Given the description of an element on the screen output the (x, y) to click on. 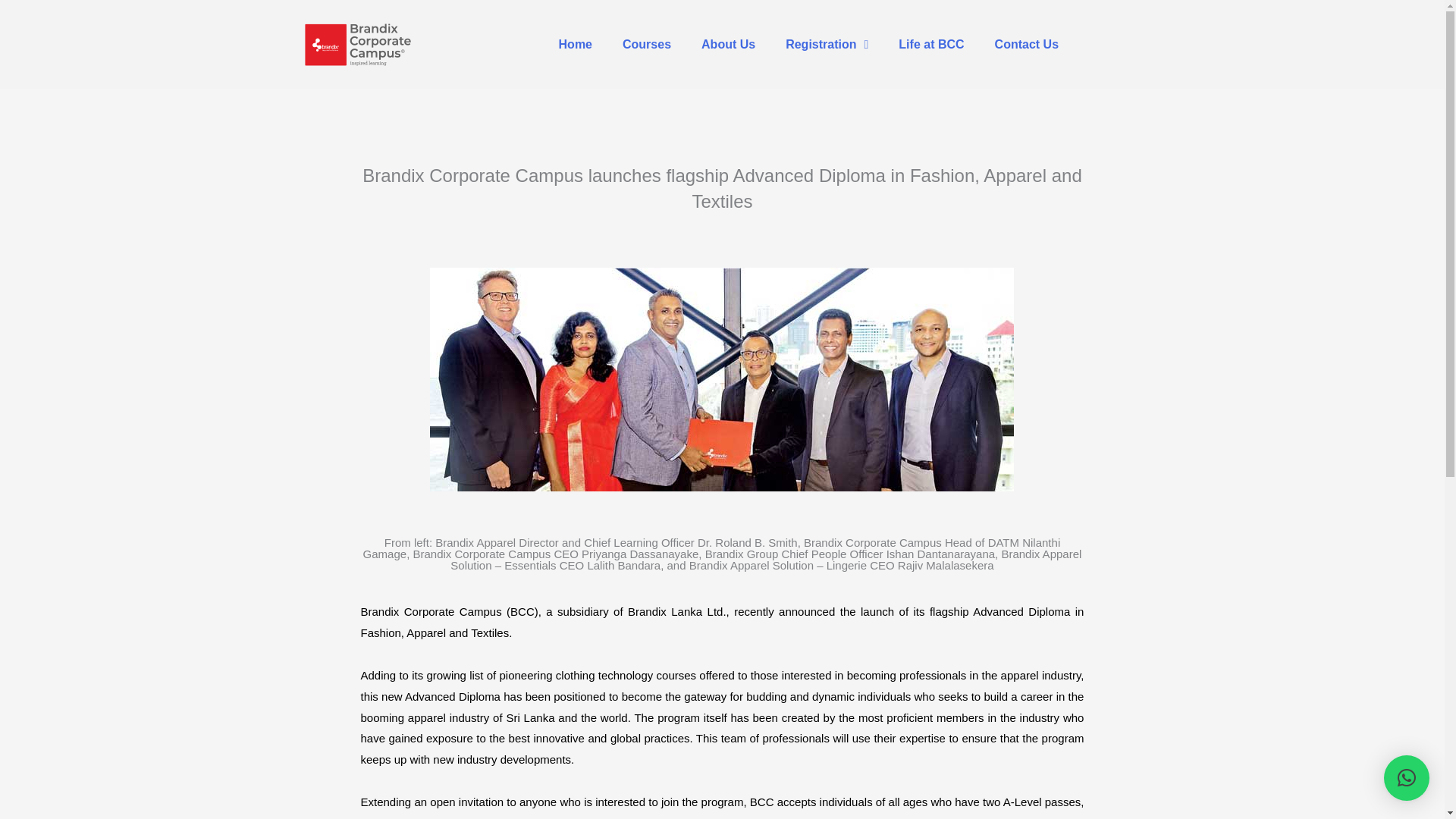
Registration (826, 44)
About Us (727, 44)
Contact Us (1026, 44)
Courses (646, 44)
Life at BCC (930, 44)
Home (575, 44)
